Given the description of an element on the screen output the (x, y) to click on. 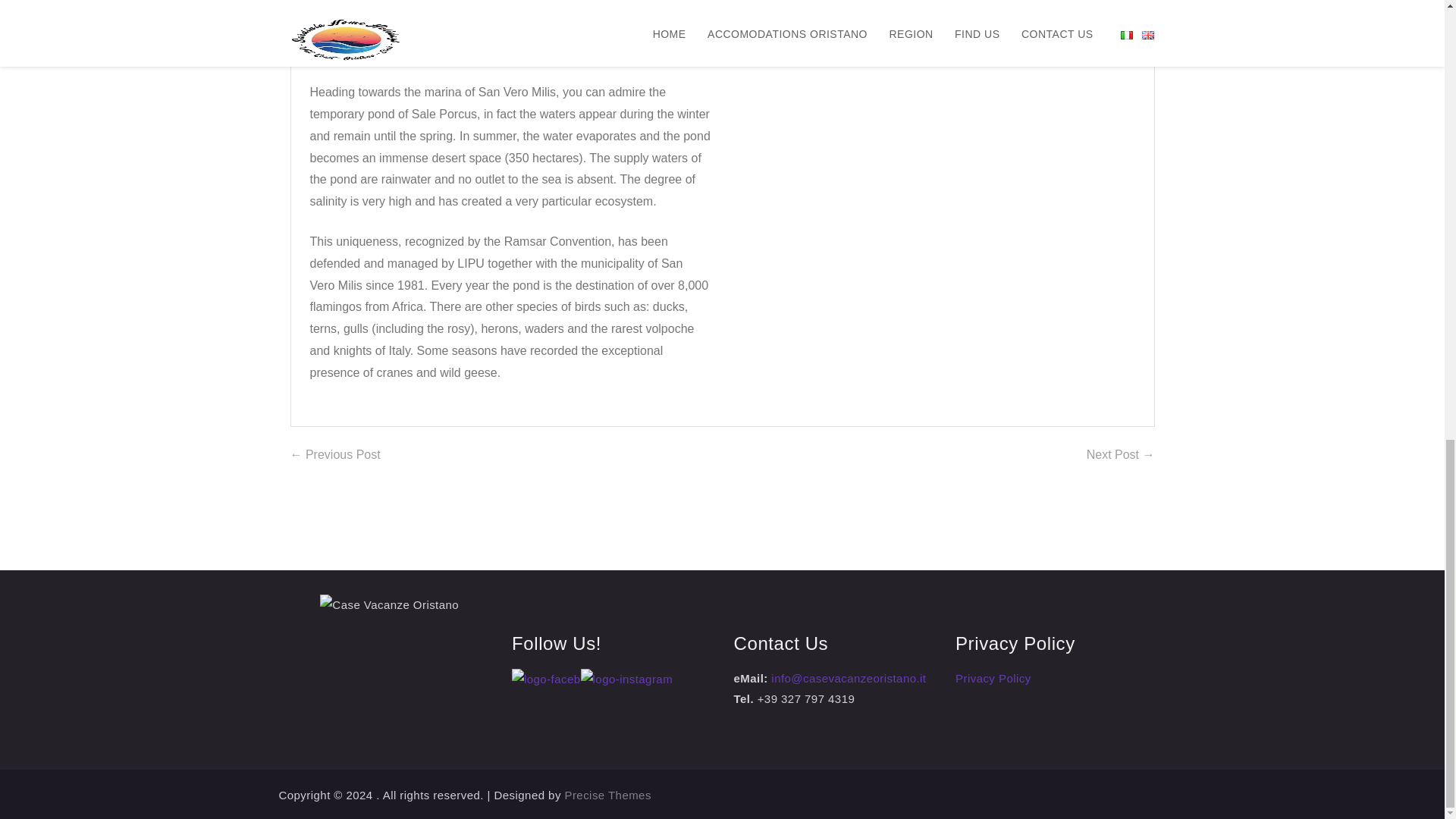
Privacy Policy (992, 677)
Precise Themes (607, 794)
Privacy Policy  (992, 677)
